Given the description of an element on the screen output the (x, y) to click on. 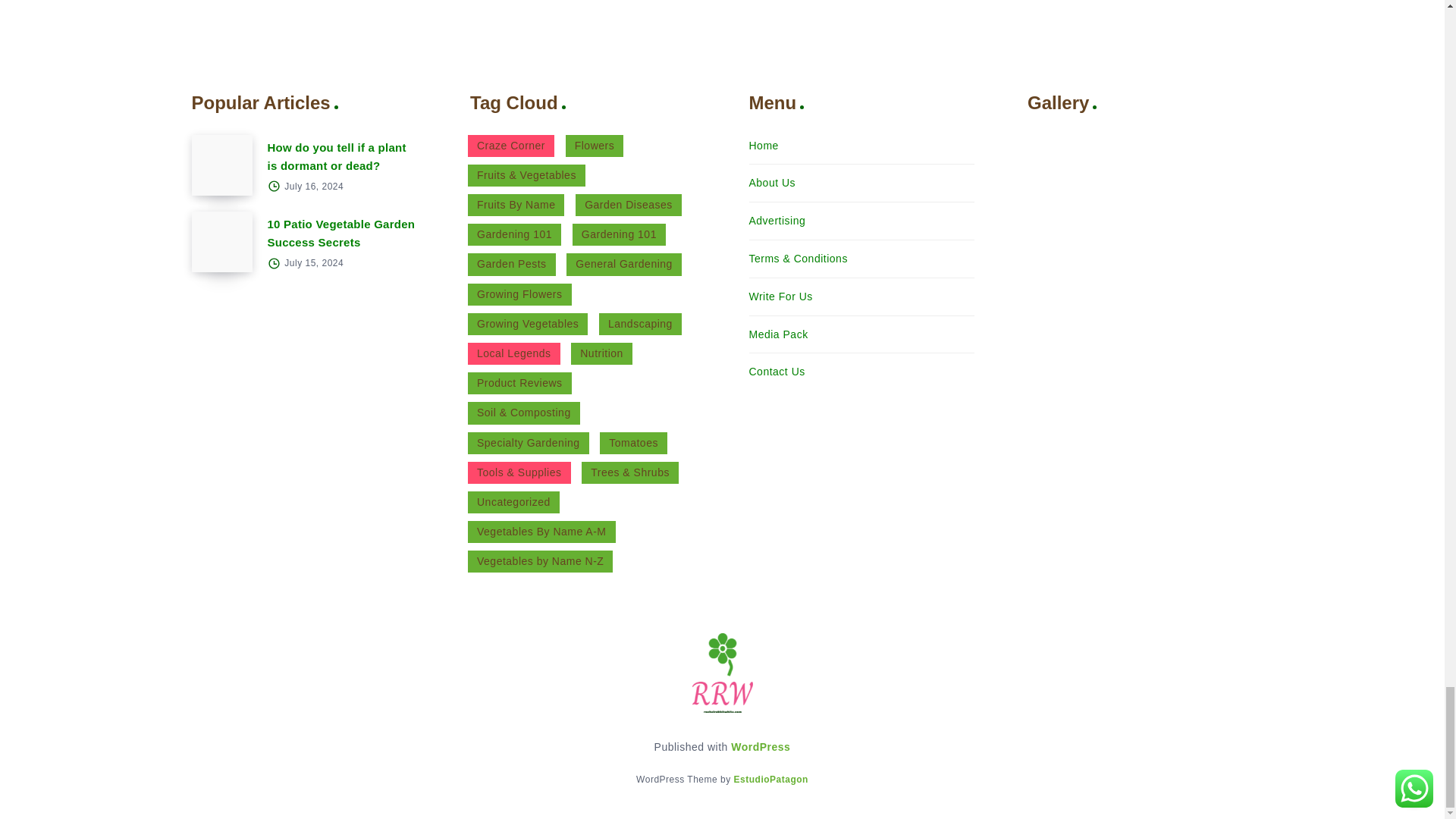
Powered with Veen (770, 778)
